Given the description of an element on the screen output the (x, y) to click on. 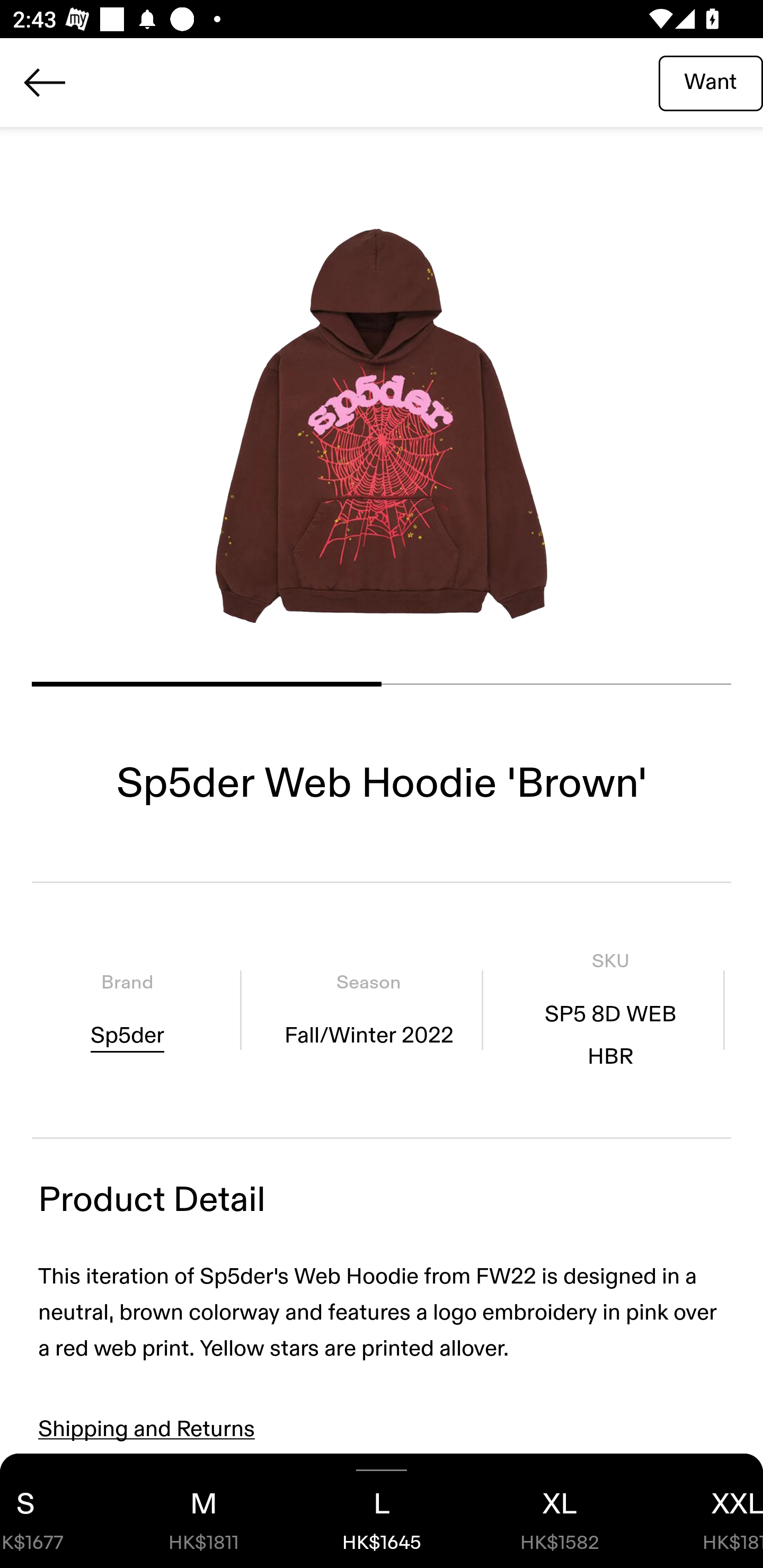
Want (710, 82)
Brand Sp5der (126, 1009)
Season Fall/Winter 2022 (368, 1009)
SKU SP5 8D WEB HBR (609, 1009)
Shipping and Returns (146, 1429)
S HK$1677 (57, 1510)
M HK$1811 (203, 1510)
L HK$1645 (381, 1510)
XL HK$1582 (559, 1510)
XXL HK$1811 (705, 1510)
